Given the description of an element on the screen output the (x, y) to click on. 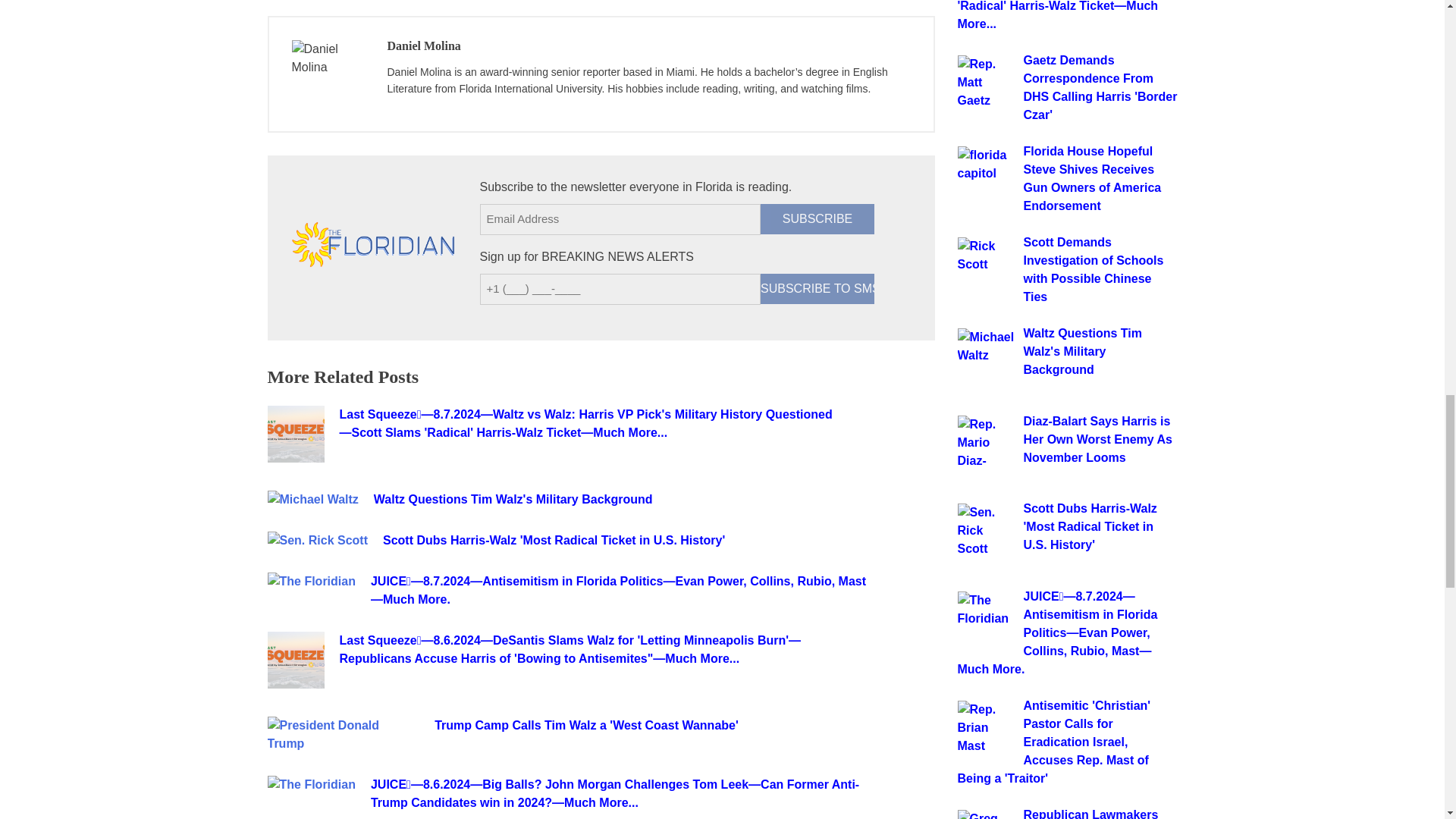
SUBSCRIBE (817, 218)
SUBSCRIBE TO SMS (817, 288)
SUBSCRIBE (817, 218)
Waltz Questions Tim Walz's Military Background (624, 499)
SUBSCRIBE TO SMS (817, 288)
